Given the description of an element on the screen output the (x, y) to click on. 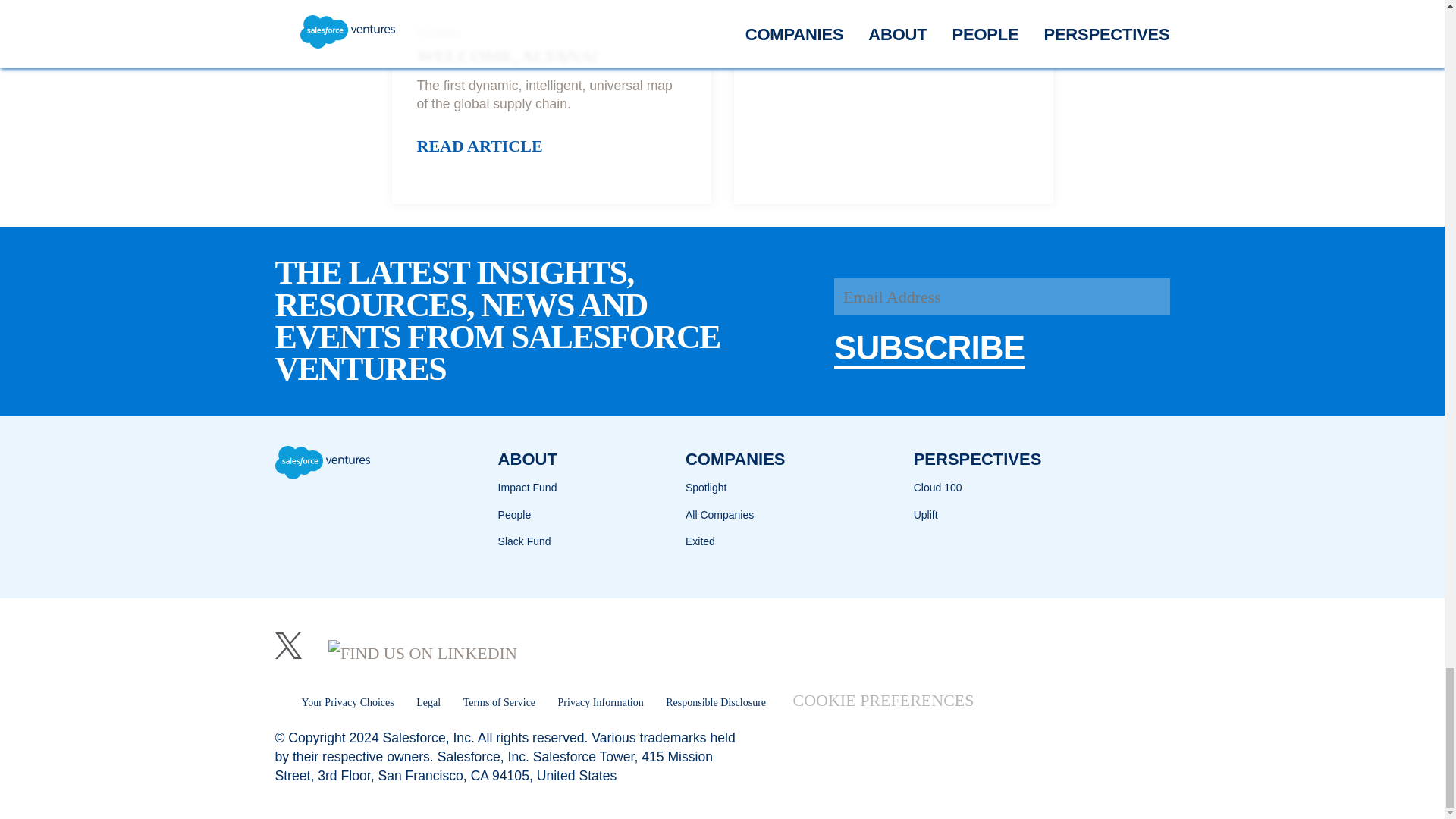
ABOUT (527, 458)
SUBSCRIBE (929, 347)
Spotlight (705, 487)
Your Privacy Choices (334, 702)
Uplift (925, 514)
Legal (428, 702)
All Companies (719, 514)
READ ARTICLE (479, 150)
Cloud 100 (938, 487)
Exited (699, 541)
